Given the description of an element on the screen output the (x, y) to click on. 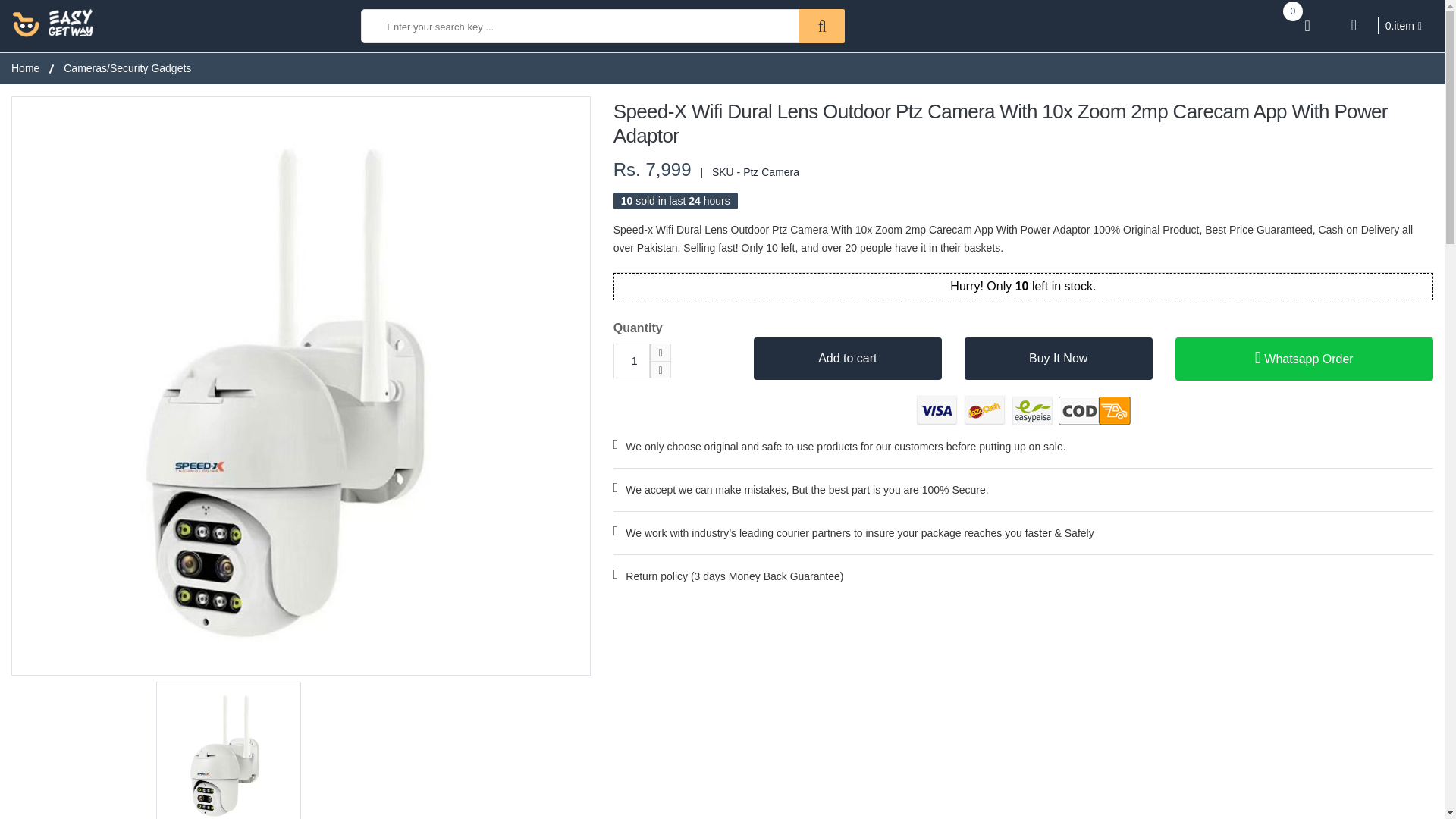
1 (630, 360)
www.easygetway.com (52, 21)
We Accept (1022, 409)
0 (1307, 26)
